Given the description of an element on the screen output the (x, y) to click on. 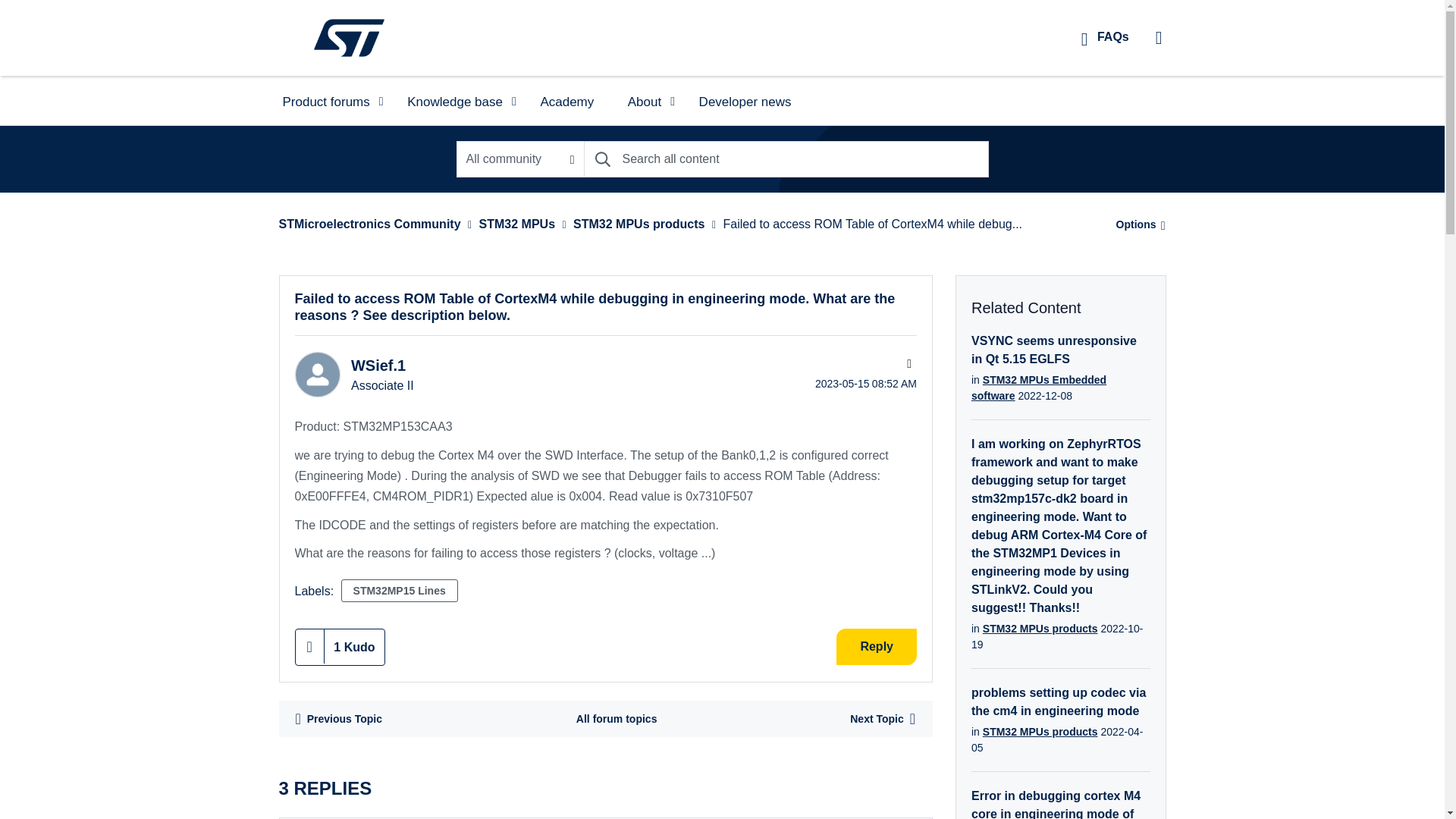
STMicroelectronics Community (348, 37)
Show option menu (1136, 224)
WSief.1 (316, 374)
Click here to see who gave kudos to this post. (354, 647)
Product forums (327, 100)
Search (602, 159)
FAQs (1105, 35)
Search Granularity (520, 158)
Search (785, 158)
